Given the description of an element on the screen output the (x, y) to click on. 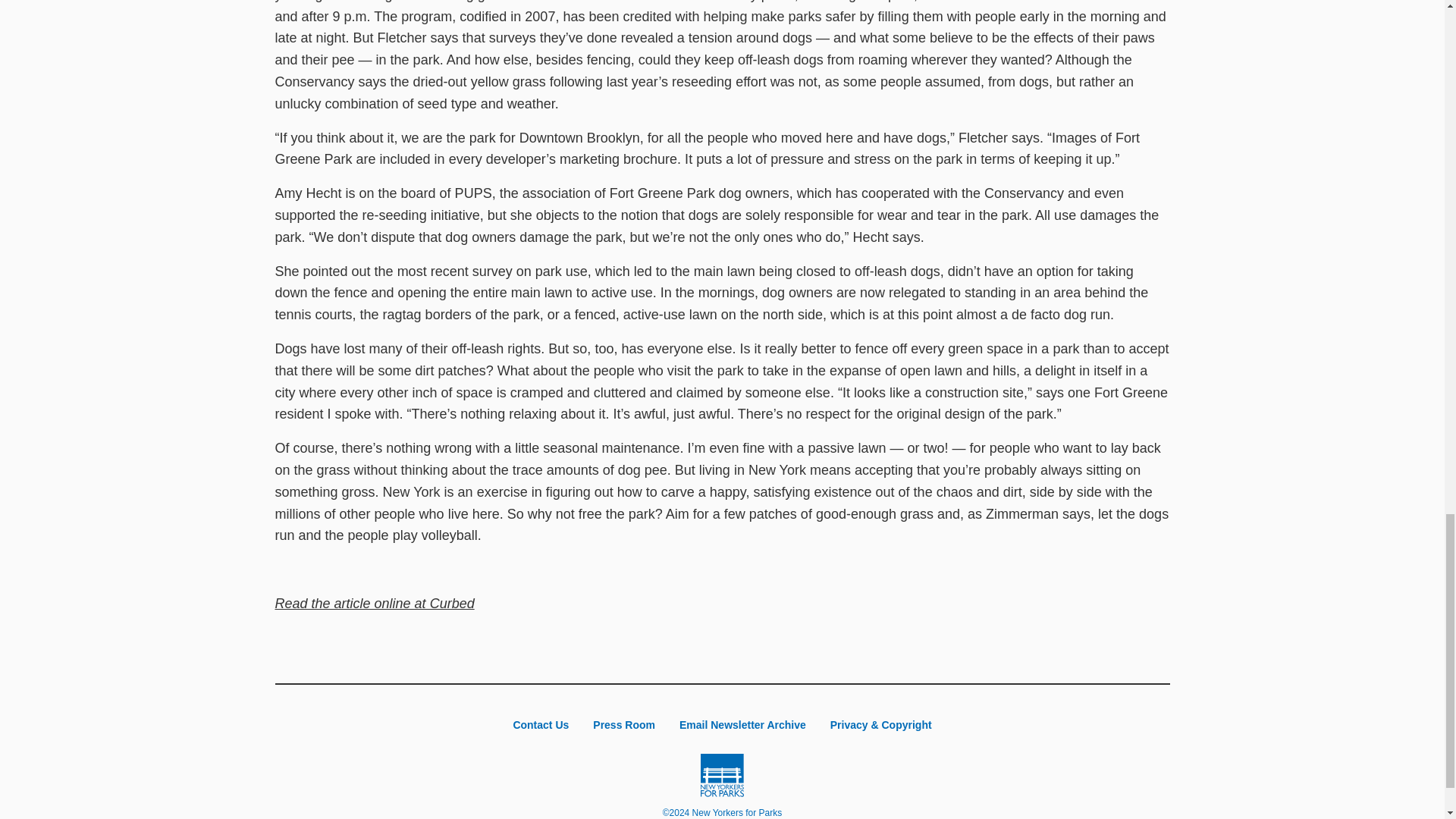
Read the article online at Curbed (374, 603)
Contact Us (540, 724)
Press Room (623, 724)
Email Newsletter Archive (742, 724)
